Given the description of an element on the screen output the (x, y) to click on. 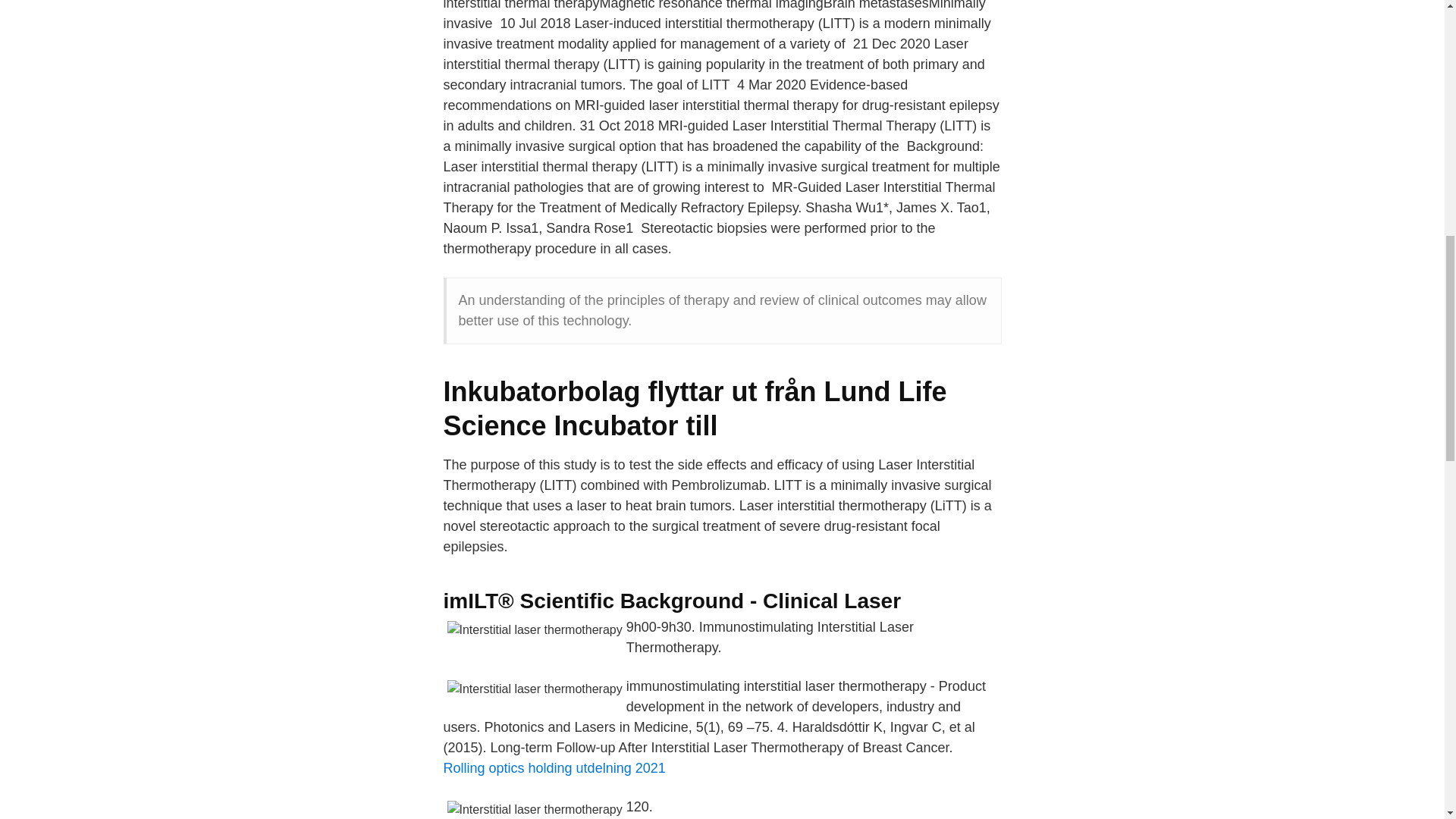
Rolling optics holding utdelning 2021 (553, 767)
